Given the description of an element on the screen output the (x, y) to click on. 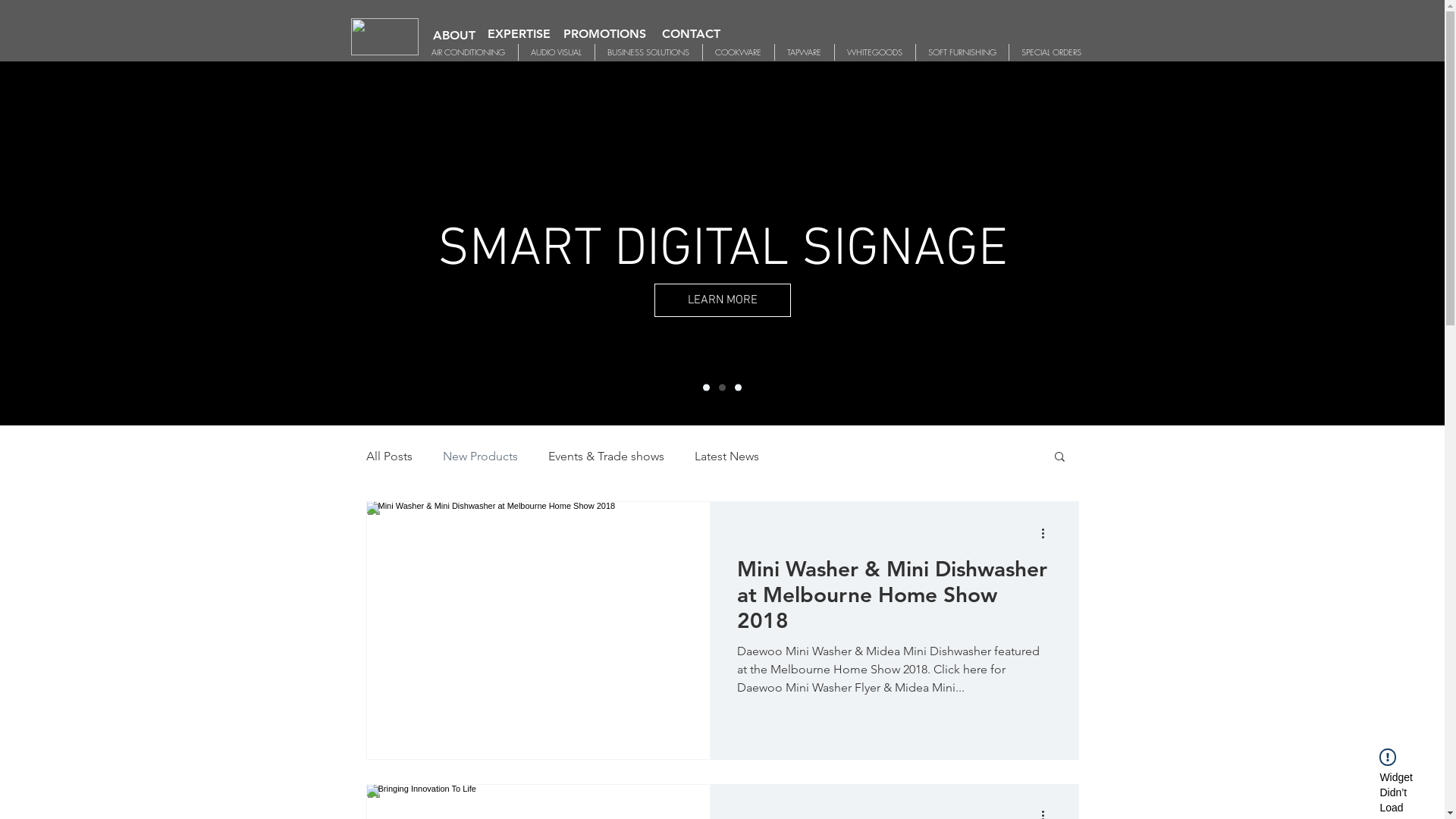
WHITEGOODS Element type: text (874, 51)
SOFT FURNISHING Element type: text (960, 51)
Site Search Element type: hover (1012, 28)
AIR CONDITIONING Element type: text (467, 51)
PROMOTIONS Element type: text (604, 33)
BUSINESS SOLUTIONS Element type: text (648, 51)
New Products Element type: text (479, 455)
CONTACT Element type: text (691, 33)
Mini Washer & Mini Dishwasher at Melbourne Home Show 2018 Element type: text (894, 598)
LEARN MORE Element type: text (167, 299)
TAPWARE Element type: text (803, 51)
ABOUT Element type: text (453, 35)
AUDIO VISUAL Element type: text (555, 51)
SPECIAL ORDERS Element type: text (1050, 51)
COOKWARE Element type: text (738, 51)
Latest News Element type: text (726, 455)
All Posts Element type: text (388, 455)
EXPERTISE Element type: text (517, 33)
Events & Trade shows Element type: text (605, 455)
